Given the description of an element on the screen output the (x, y) to click on. 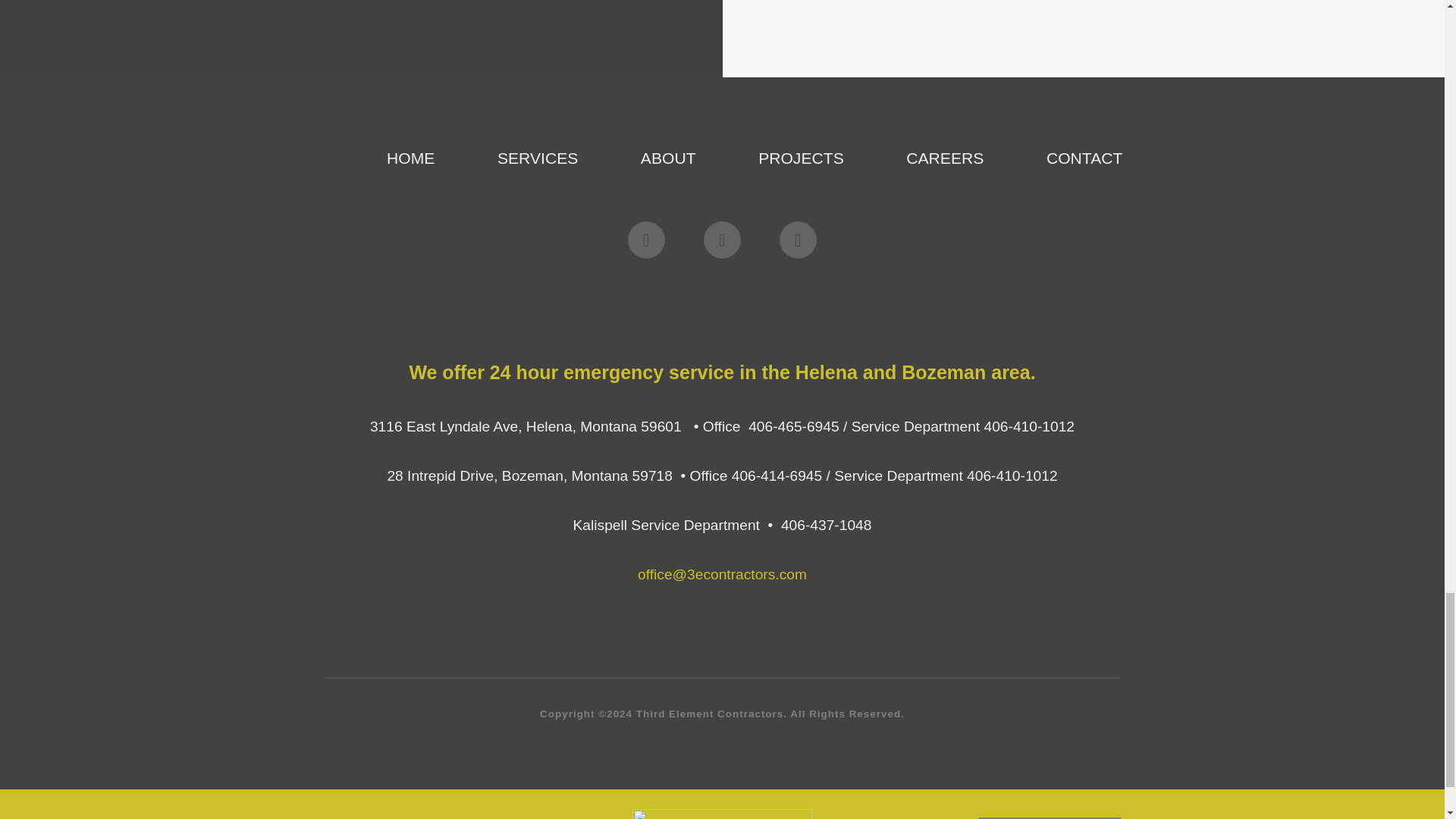
CAREERS (944, 158)
Follow on YouTube (797, 239)
406-410-1012 (1029, 426)
HOME (410, 158)
Follow on Facebook (646, 239)
SERVICES (537, 158)
406-437-1048 (826, 524)
PROJECTS (801, 158)
406-414-6945 (777, 475)
406-465-6945 (794, 426)
